Given the description of an element on the screen output the (x, y) to click on. 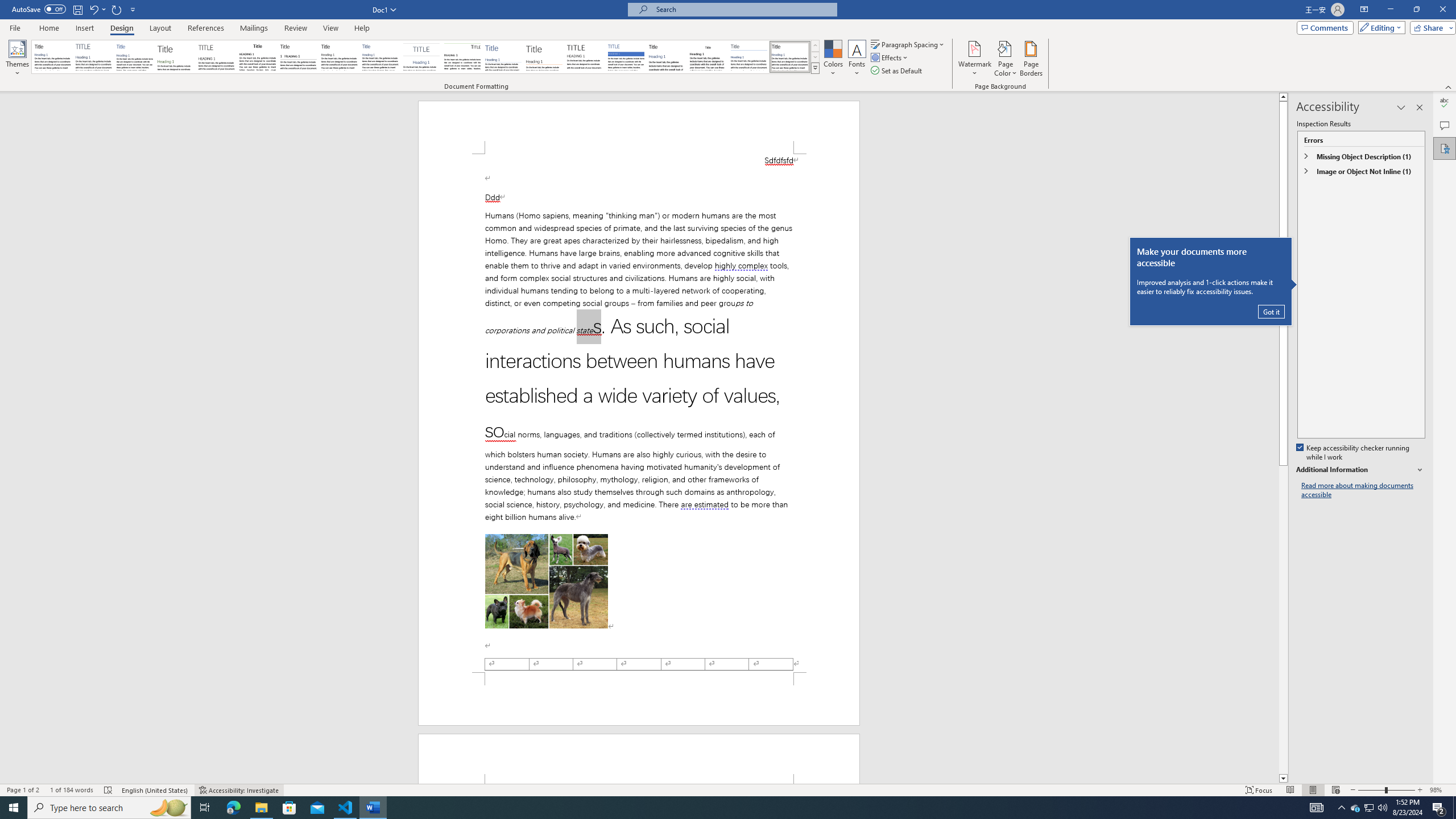
Undo Apply Quick Style Set (96, 9)
Layout (160, 28)
Zoom (1386, 790)
Shaded (625, 56)
Basic (Simple) (135, 56)
Centered (421, 56)
Class: NetUIScrollBar (1283, 437)
Header -Section 1- (638, 758)
Page 1 content (638, 412)
Basic (Elegant) (93, 56)
Spelling and Grammar Check Errors (108, 790)
Editor (1444, 102)
Casual (379, 56)
